Given the description of an element on the screen output the (x, y) to click on. 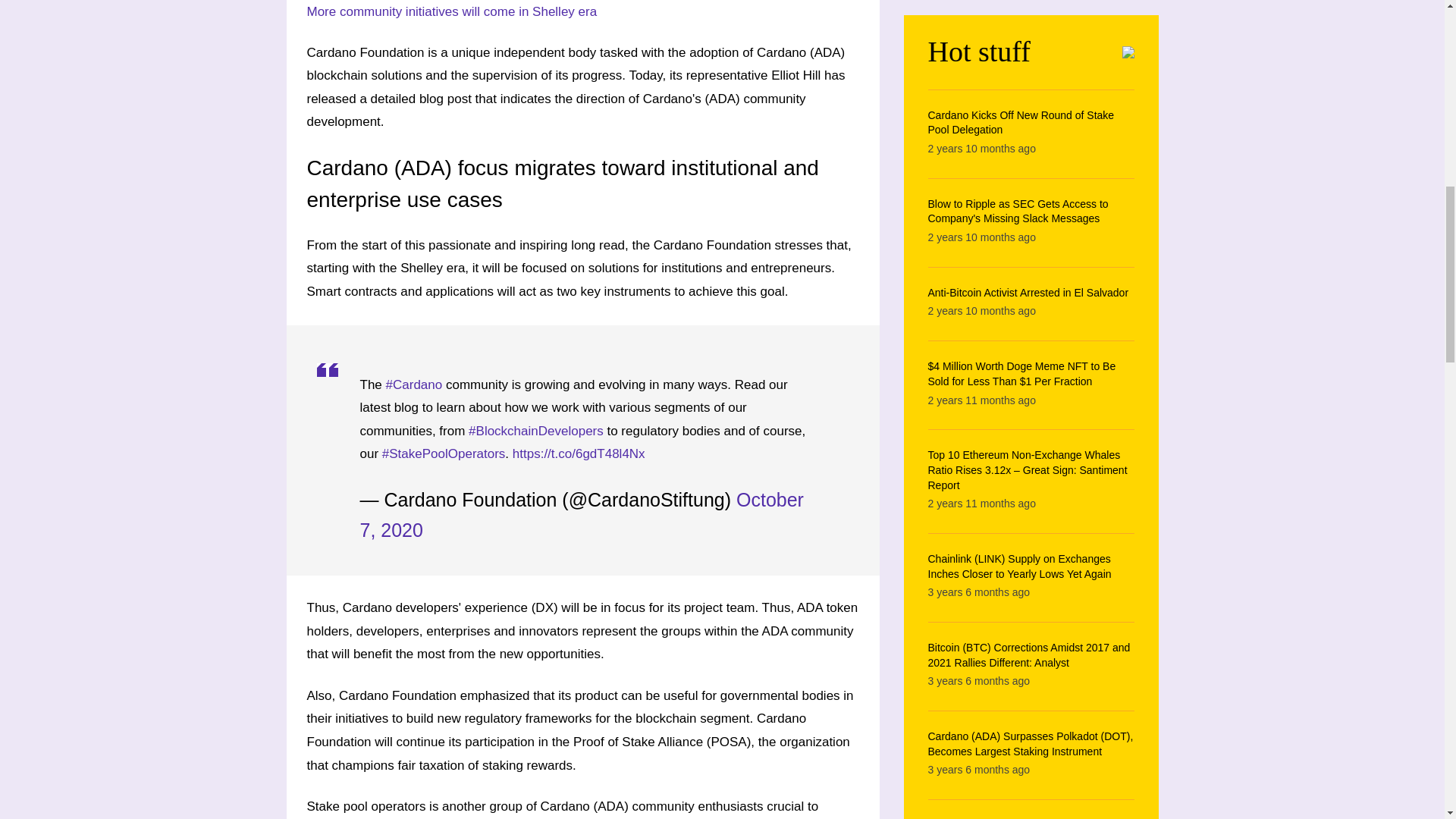
More community initiatives will come in Shelley era (450, 11)
